Given the description of an element on the screen output the (x, y) to click on. 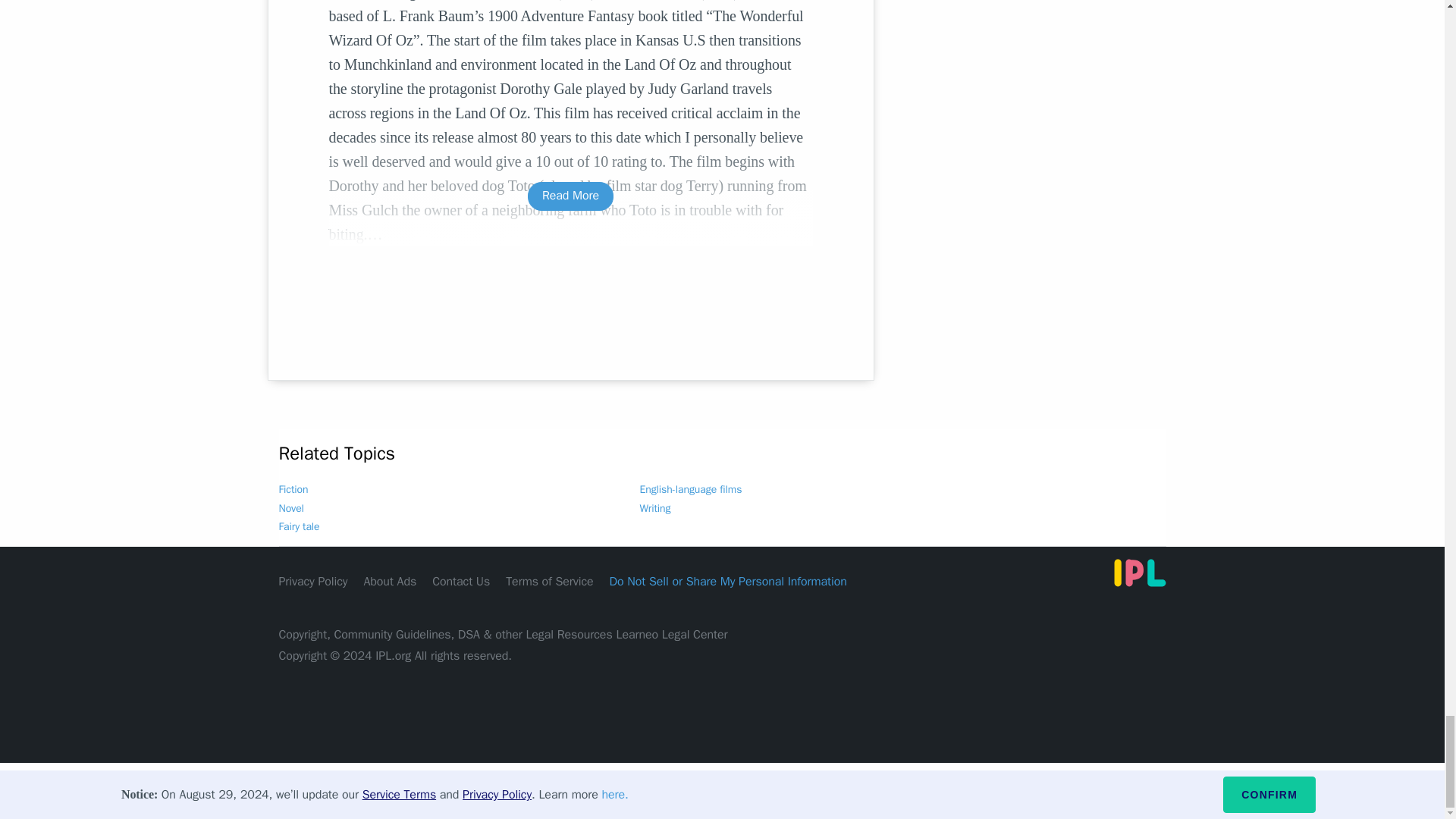
Contact Us (460, 581)
About Ads (389, 581)
English-language films (691, 489)
Terms of Service (548, 581)
Novel (291, 508)
Fairy tale (299, 526)
Fiction (293, 489)
Privacy Policy (313, 581)
Writing (655, 508)
